Given the description of an element on the screen output the (x, y) to click on. 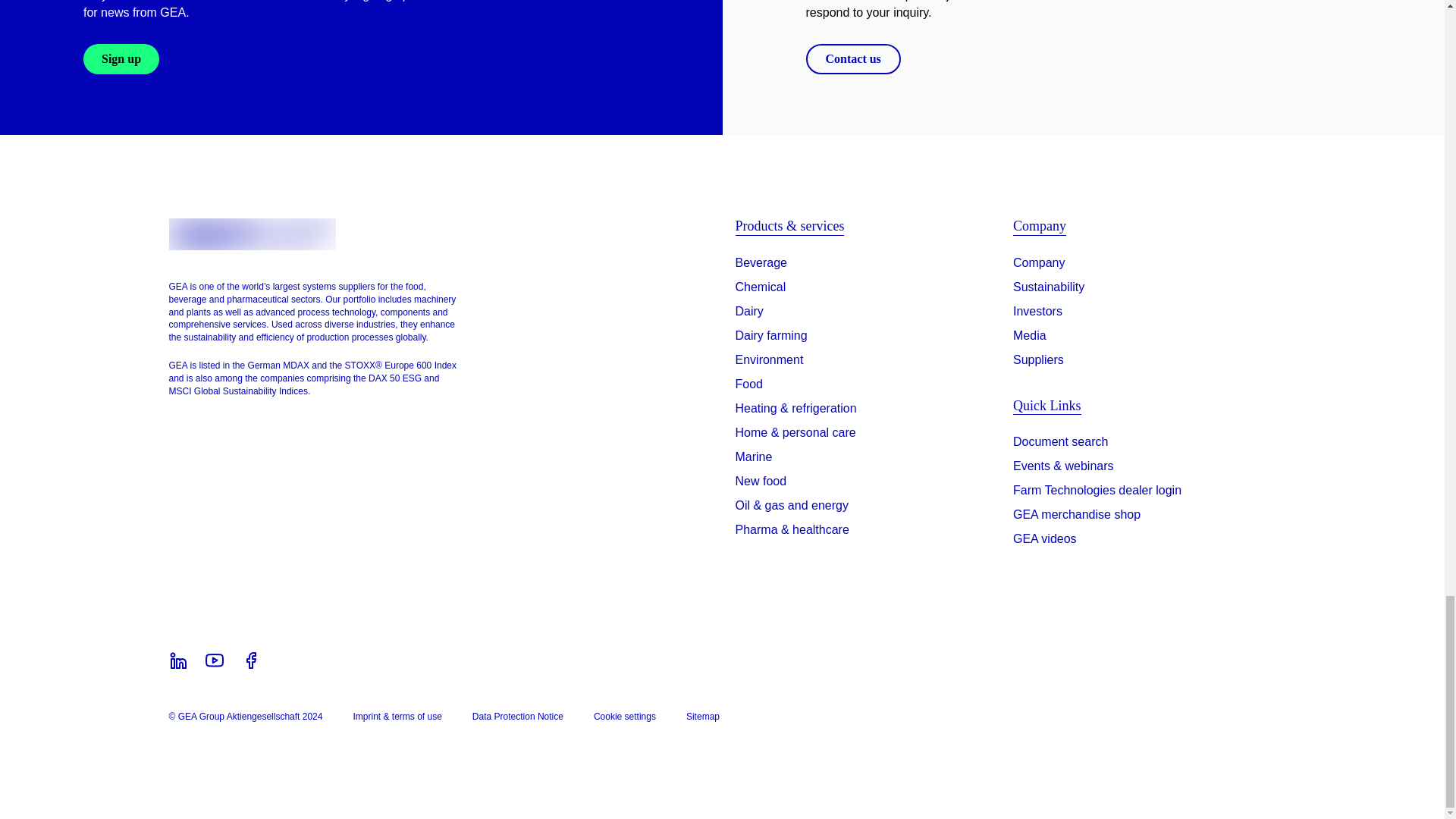
Suppliers (1038, 360)
Company (1038, 262)
Search (1060, 445)
Events (1063, 469)
videos (1045, 541)
Sustainability (1048, 287)
Investors (1037, 311)
Media (1029, 335)
